Given the description of an element on the screen output the (x, y) to click on. 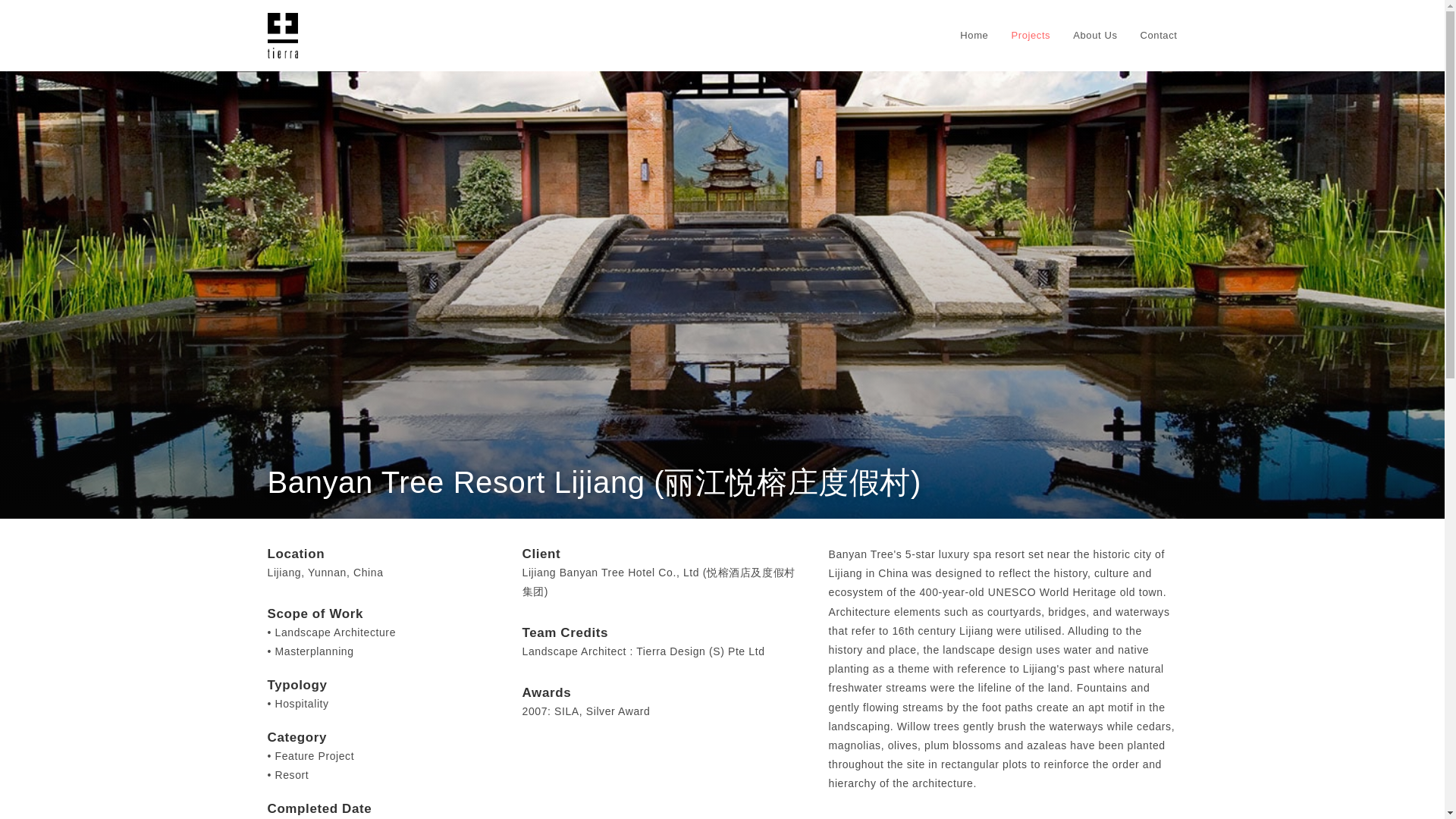
About Us (1094, 35)
Projects (1029, 35)
Home (973, 35)
Contact (1158, 35)
